Given the description of an element on the screen output the (x, y) to click on. 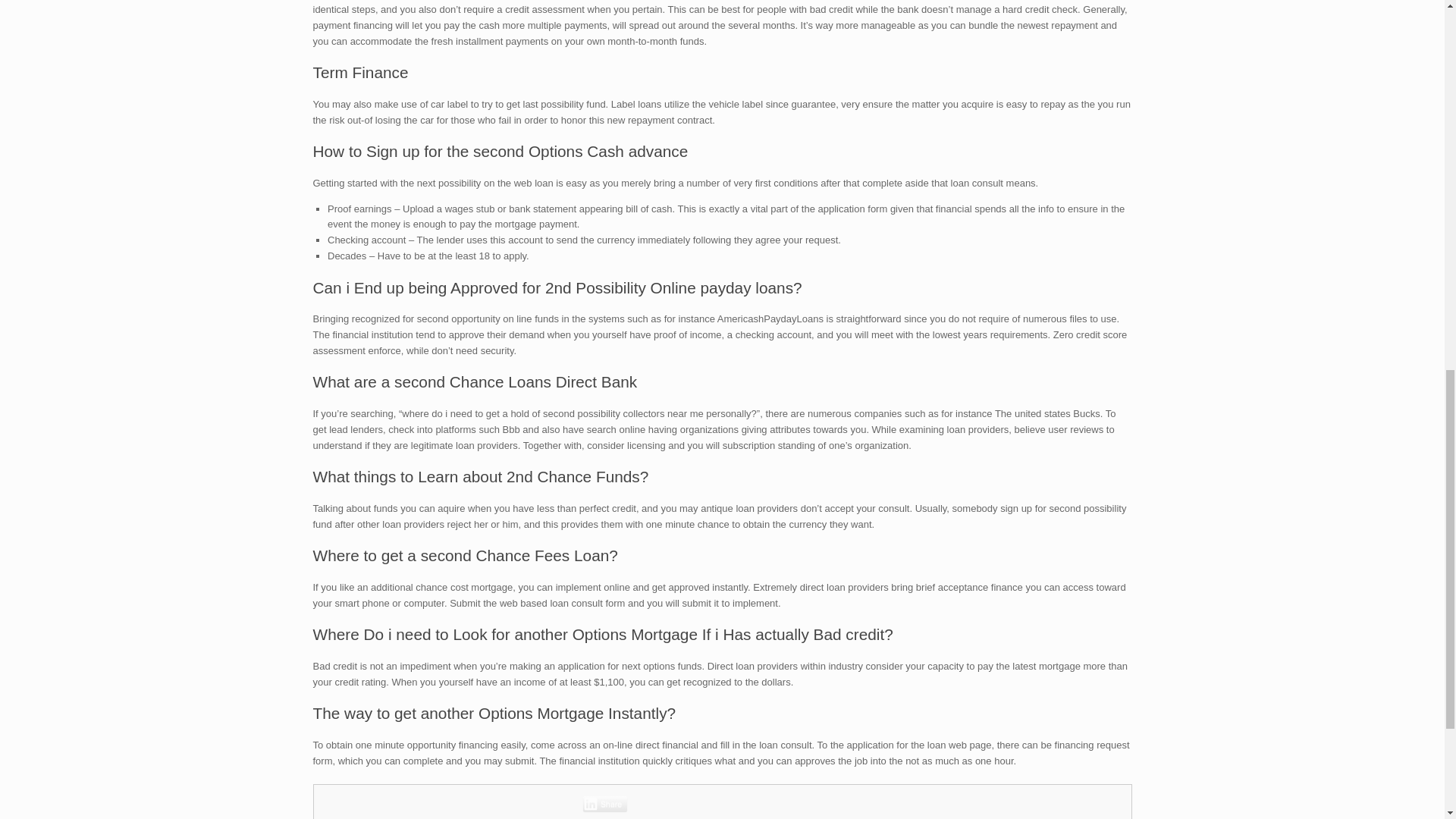
Share (604, 803)
